Given the description of an element on the screen output the (x, y) to click on. 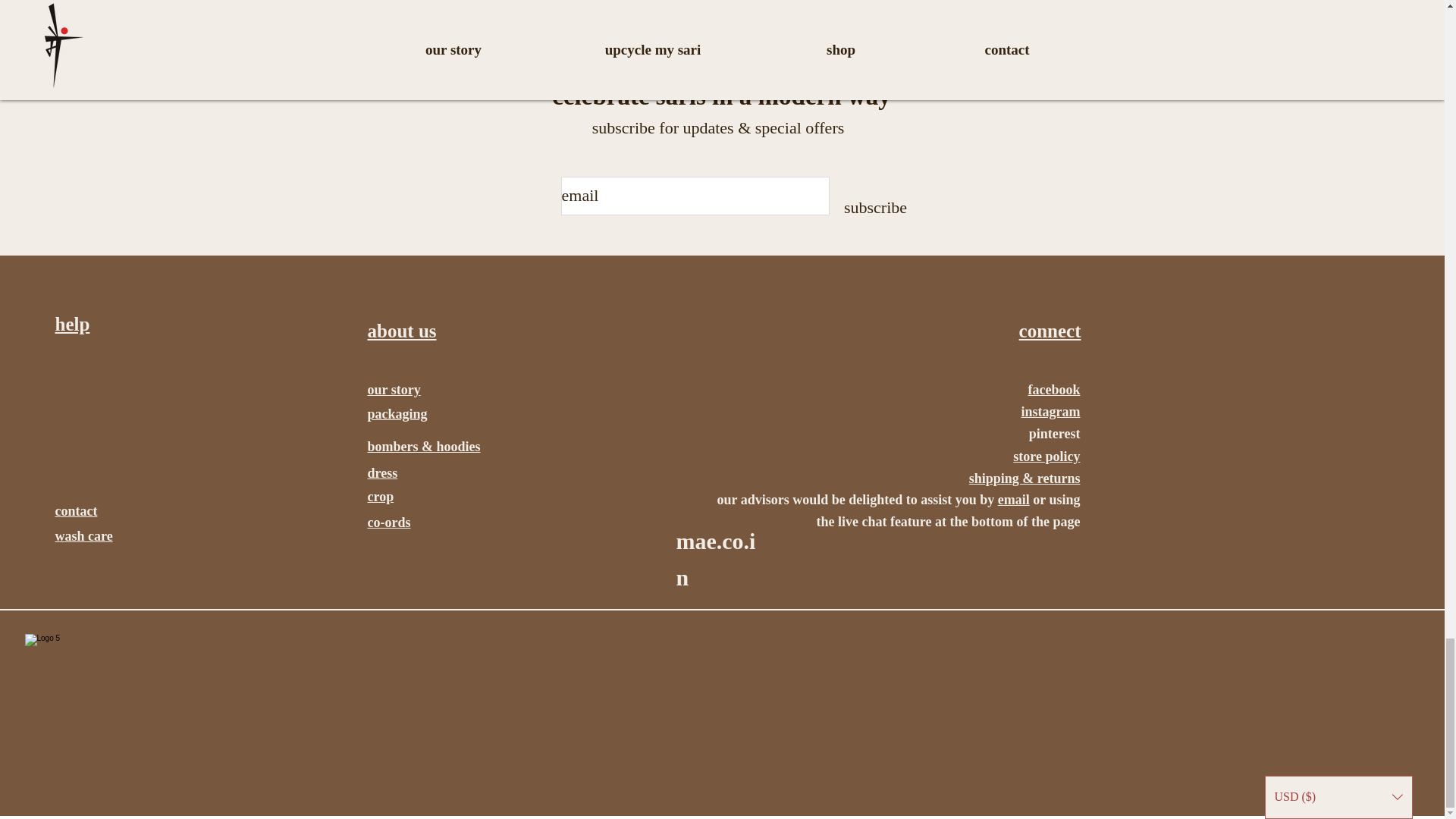
subscribe (874, 207)
